Given the description of an element on the screen output the (x, y) to click on. 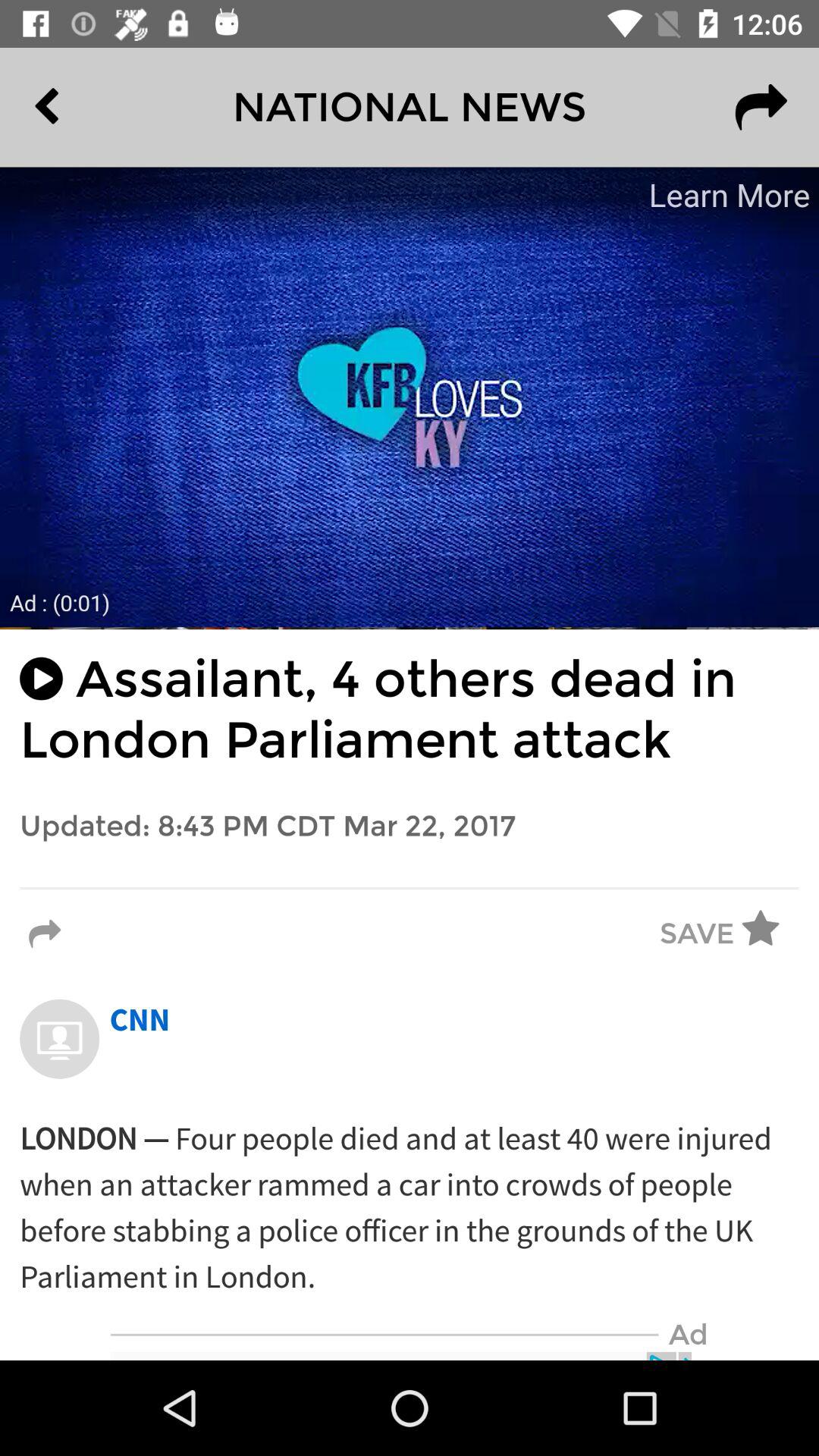
launch item to the left of ad item (384, 1334)
